Given the description of an element on the screen output the (x, y) to click on. 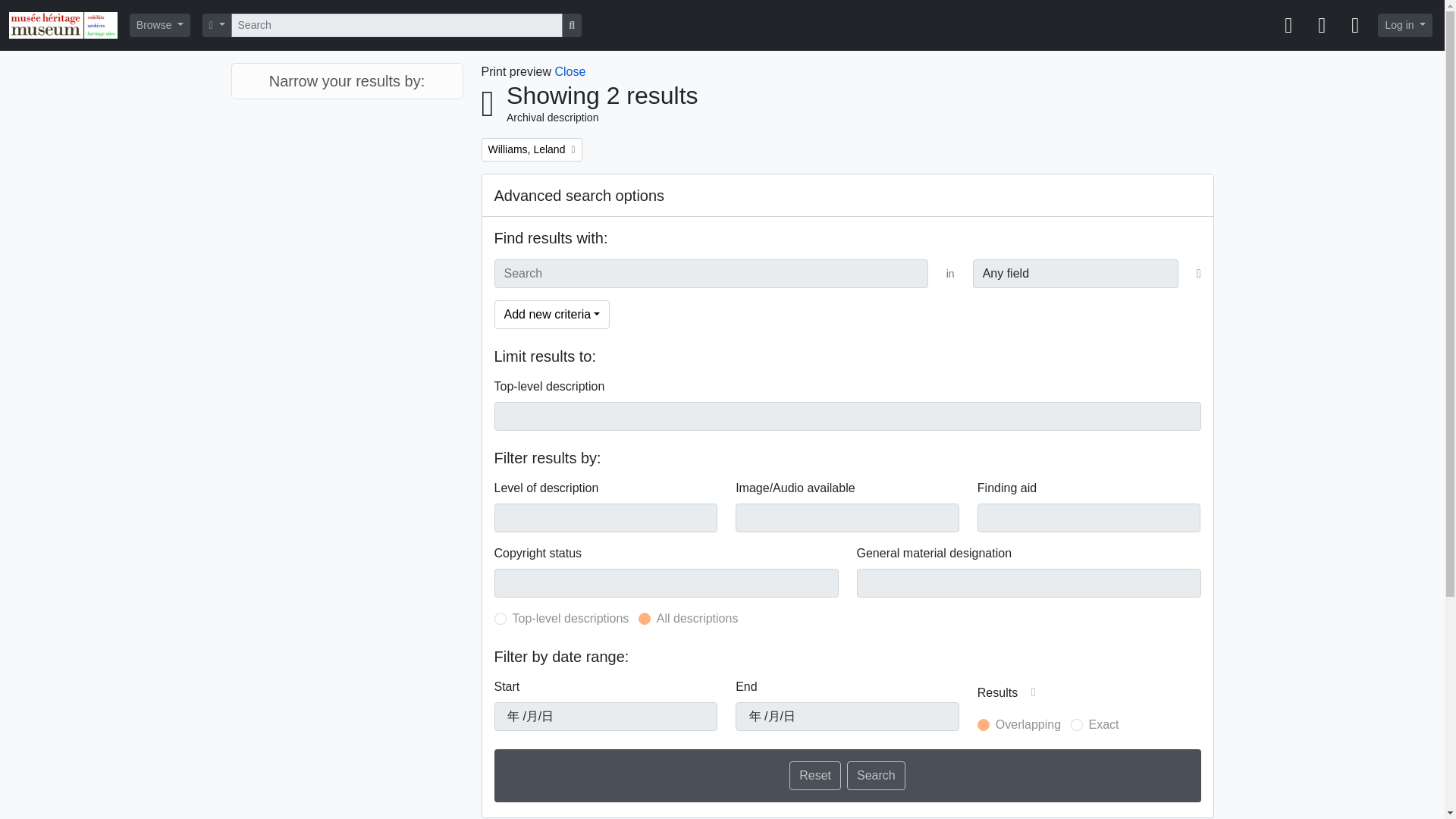
Clipboard (1287, 25)
Search (876, 775)
Quick links (1354, 25)
Clipboard (1287, 25)
Language (1321, 25)
Search options (530, 149)
exact (216, 24)
0 (1076, 725)
Browse (644, 618)
